Given the description of an element on the screen output the (x, y) to click on. 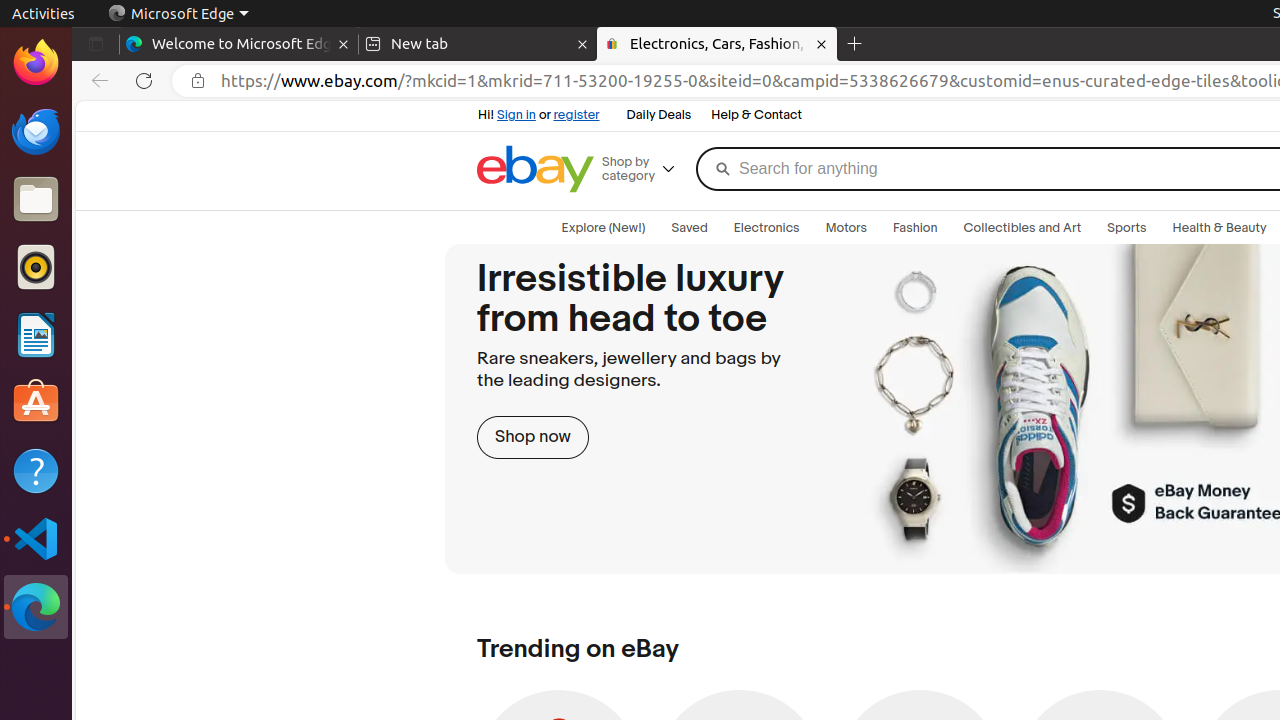
Daily Deals Element type: link (659, 115)
Sports Element type: link (1127, 228)
Help & Contact Element type: link (756, 115)
Close tab Element type: push-button (343, 44)
Microsoft Edge Element type: menu (178, 13)
